Given the description of an element on the screen output the (x, y) to click on. 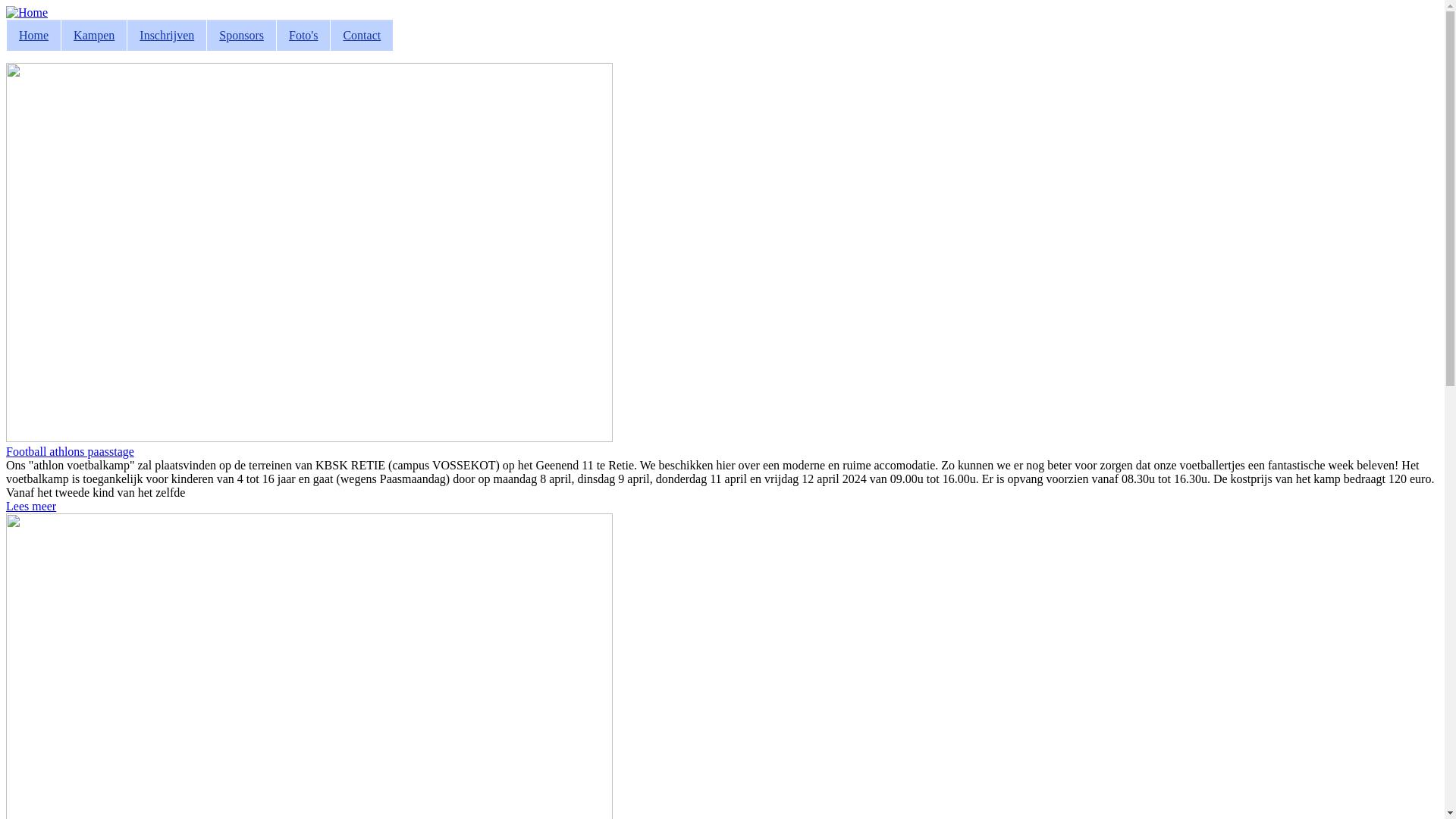
Inschrijven Element type: text (166, 34)
Home Element type: hover (26, 12)
Kampen Element type: text (93, 34)
Football athlons paasstage Element type: hover (309, 437)
Contact Element type: text (360, 34)
Foto's Element type: text (302, 34)
Home Element type: text (33, 34)
Lees meer Element type: text (31, 505)
Football athlons paasstage Element type: text (70, 451)
Sponsors Element type: text (241, 34)
